Given the description of an element on the screen output the (x, y) to click on. 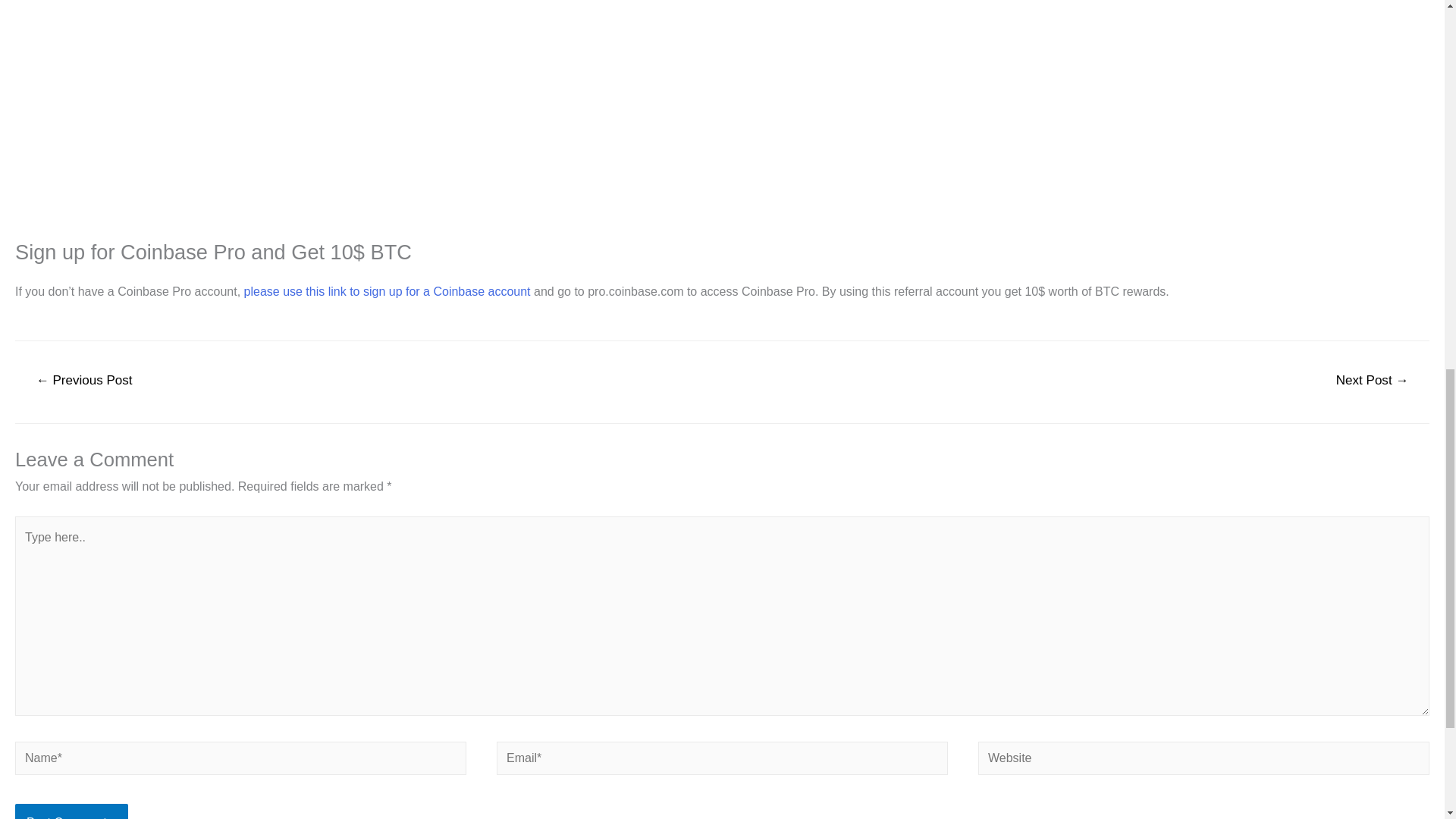
please use this link to sign up for a Coinbase account (387, 291)
